Given the description of an element on the screen output the (x, y) to click on. 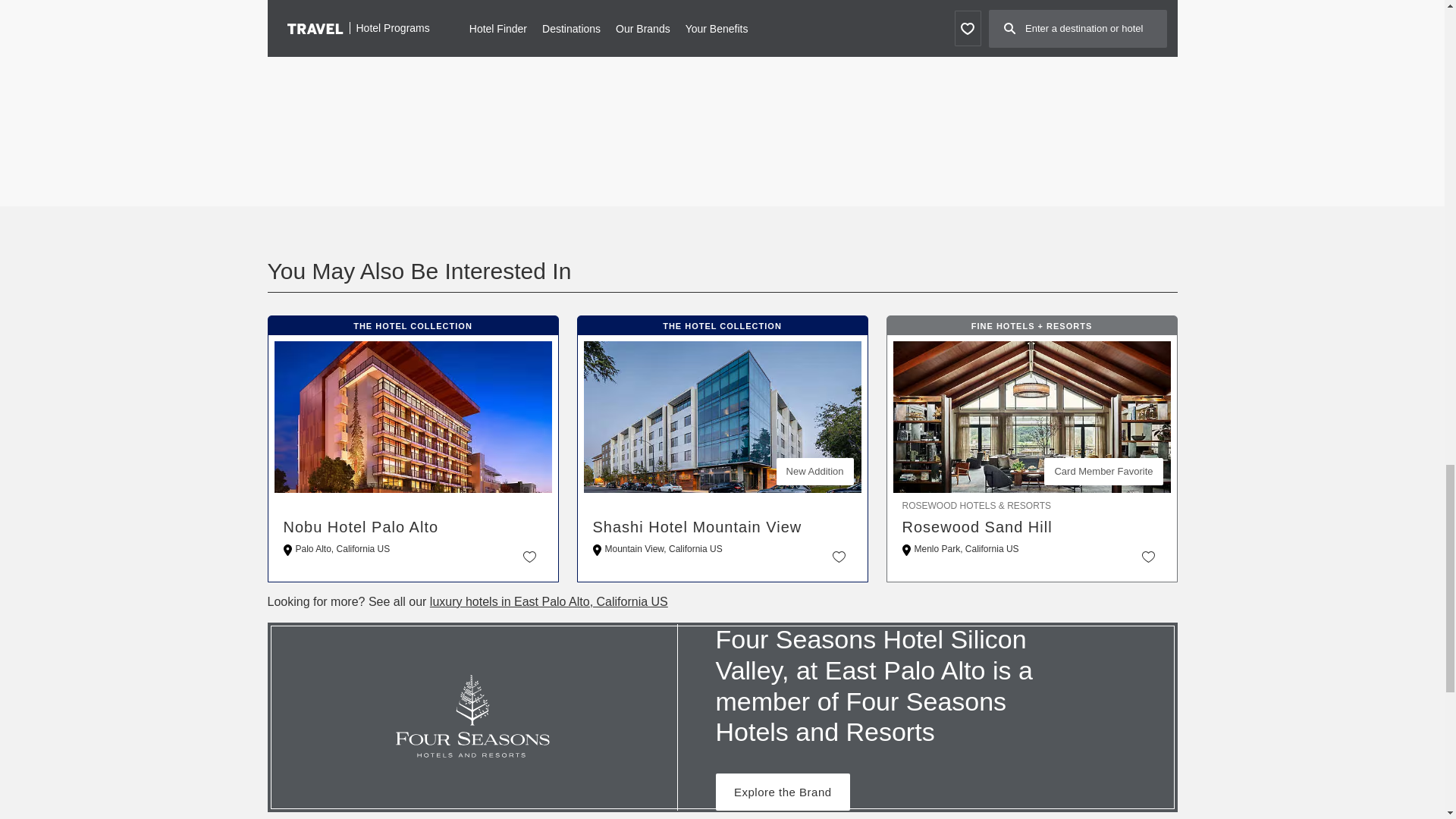
Rosewood Sand Hill (1031, 526)
Explore the Brand (783, 791)
Shashi Hotel Mountain View (721, 526)
luxury hotels in East Palo Alto, California US (548, 601)
Nobu Hotel Palo Alto (413, 526)
